Given the description of an element on the screen output the (x, y) to click on. 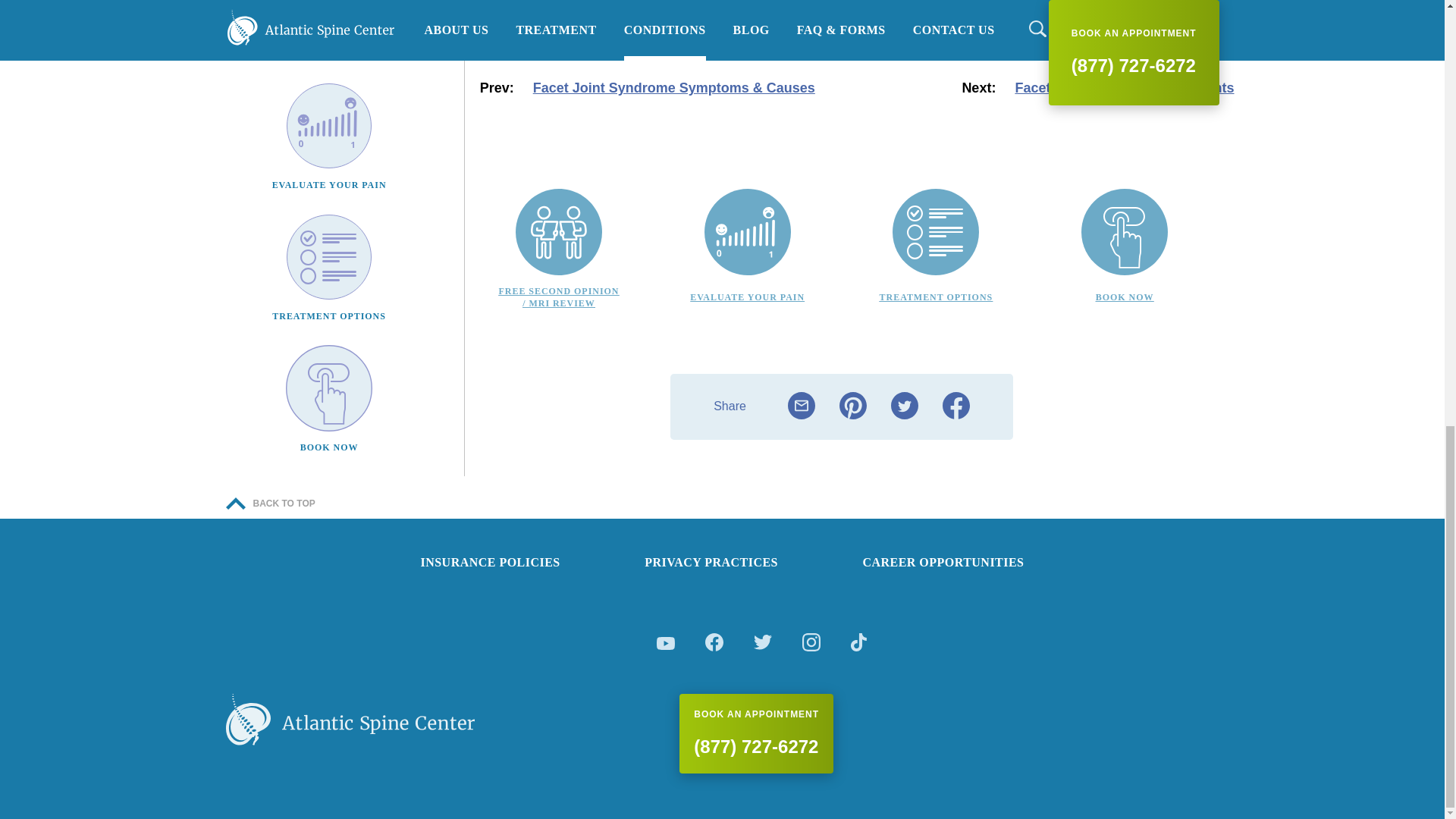
Facet Joint Syndrome Diagnosis (955, 406)
Call Phone Number (755, 733)
